Given the description of an element on the screen output the (x, y) to click on. 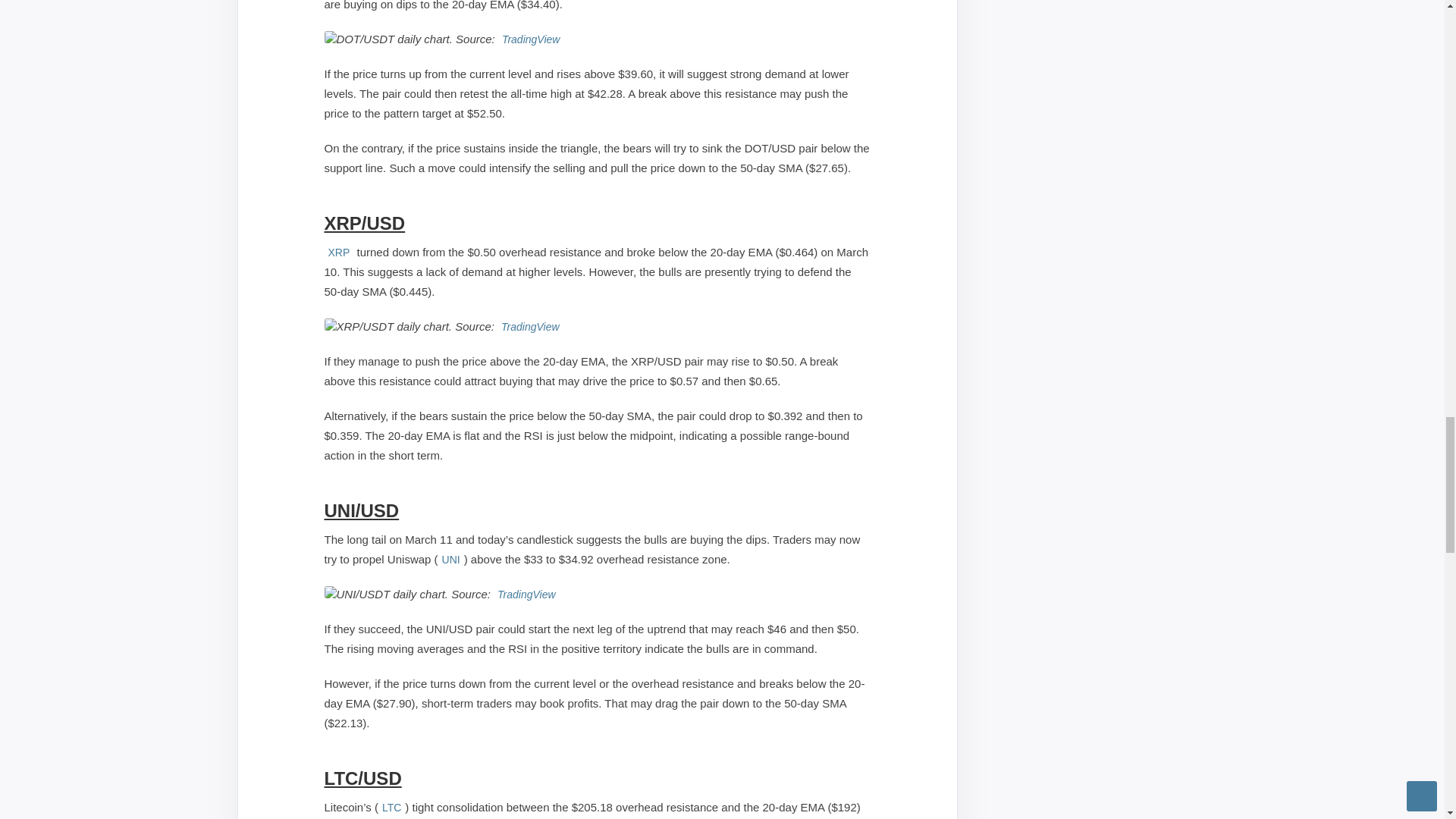
TradingView (530, 326)
XRP (338, 251)
TradingView (526, 594)
UNI (451, 558)
TradingView (530, 38)
LTC (391, 807)
